Given the description of an element on the screen output the (x, y) to click on. 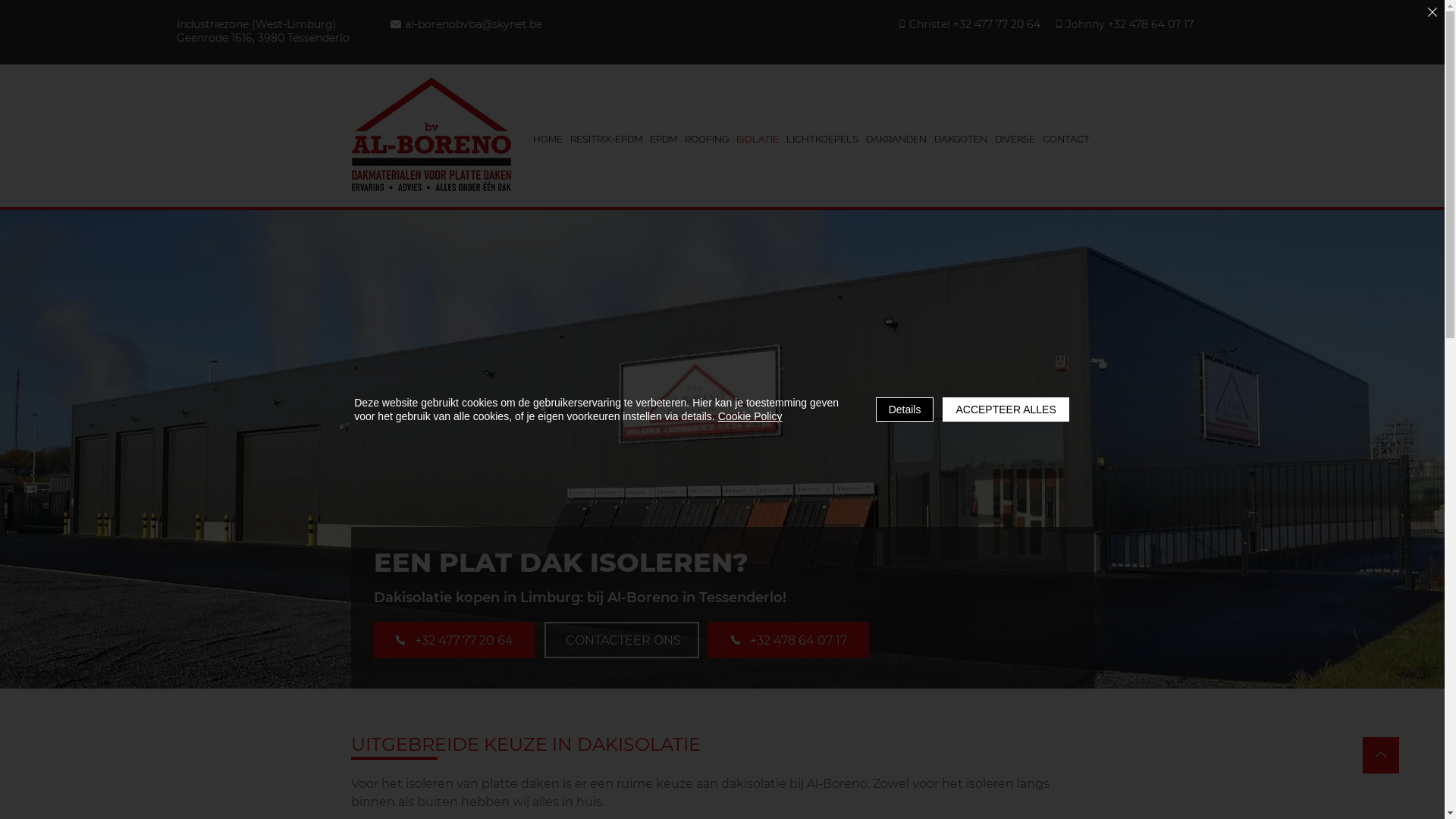
al-borenobvba@skynet.be Element type: text (477, 23)
CONTACTEER ONS Element type: text (621, 639)
+32 478 64 07 17 Element type: text (788, 639)
Johnny +32 478 64 07 17 Element type: text (1127, 23)
HOME Element type: text (547, 138)
ROOFING Element type: text (706, 138)
LICHTKOEPELS Element type: text (822, 138)
Details Element type: text (904, 409)
Cookie Policy Element type: text (750, 416)
CONTACT Element type: text (1065, 138)
DIVERSE Element type: text (1014, 138)
+32 477 77 20 64 Element type: text (453, 639)
ACCEPTEER ALLES Element type: text (1005, 409)
EPDM Element type: text (663, 138)
DAKGOTEN Element type: text (959, 138)
ISOLATIE Element type: text (757, 138)
DAKRANDEN Element type: text (895, 138)
RESITRIX-EPDM Element type: text (605, 138)
Christel +32 477 77 20 64 Element type: text (970, 23)
